Given the description of an element on the screen output the (x, y) to click on. 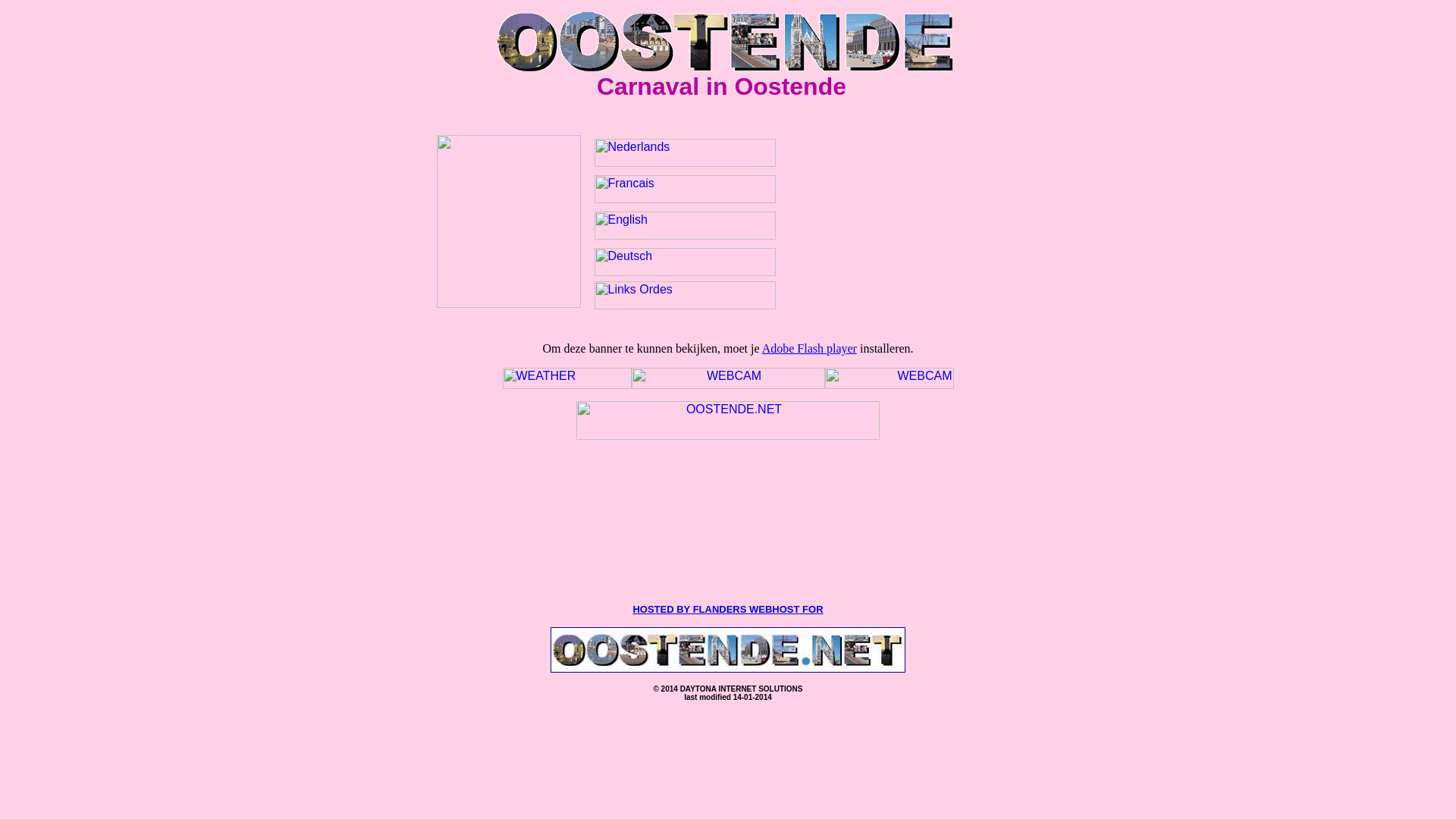
Advertisement Element type: hover (727, 557)
HOSTED BY FLANDERS WEBHOST FOR Element type: text (727, 608)
Adobe Flash player Element type: text (809, 348)
